Given the description of an element on the screen output the (x, y) to click on. 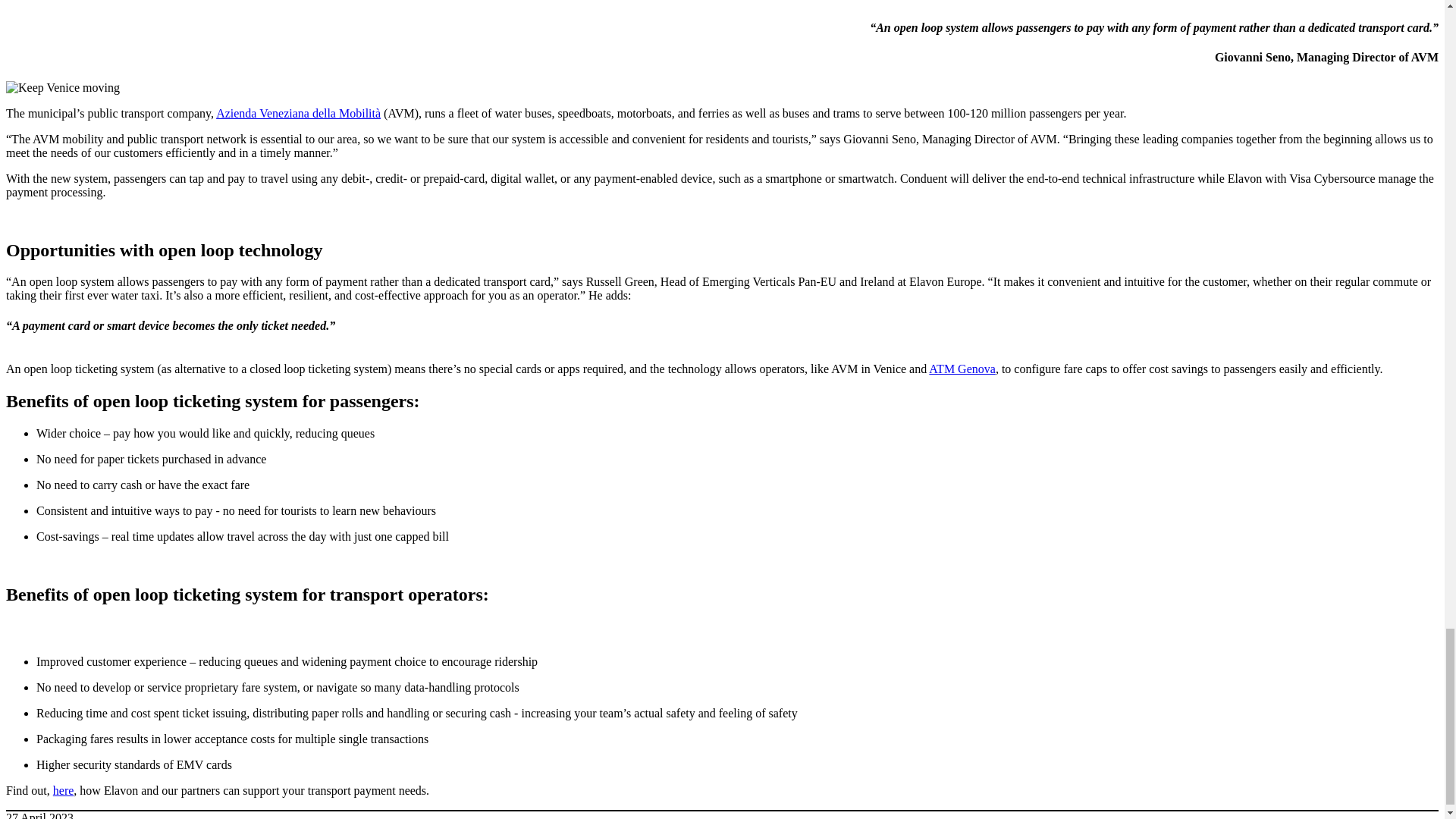
View our payments in motion article (961, 368)
Learn more about the transportation industry (63, 789)
